Given the description of an element on the screen output the (x, y) to click on. 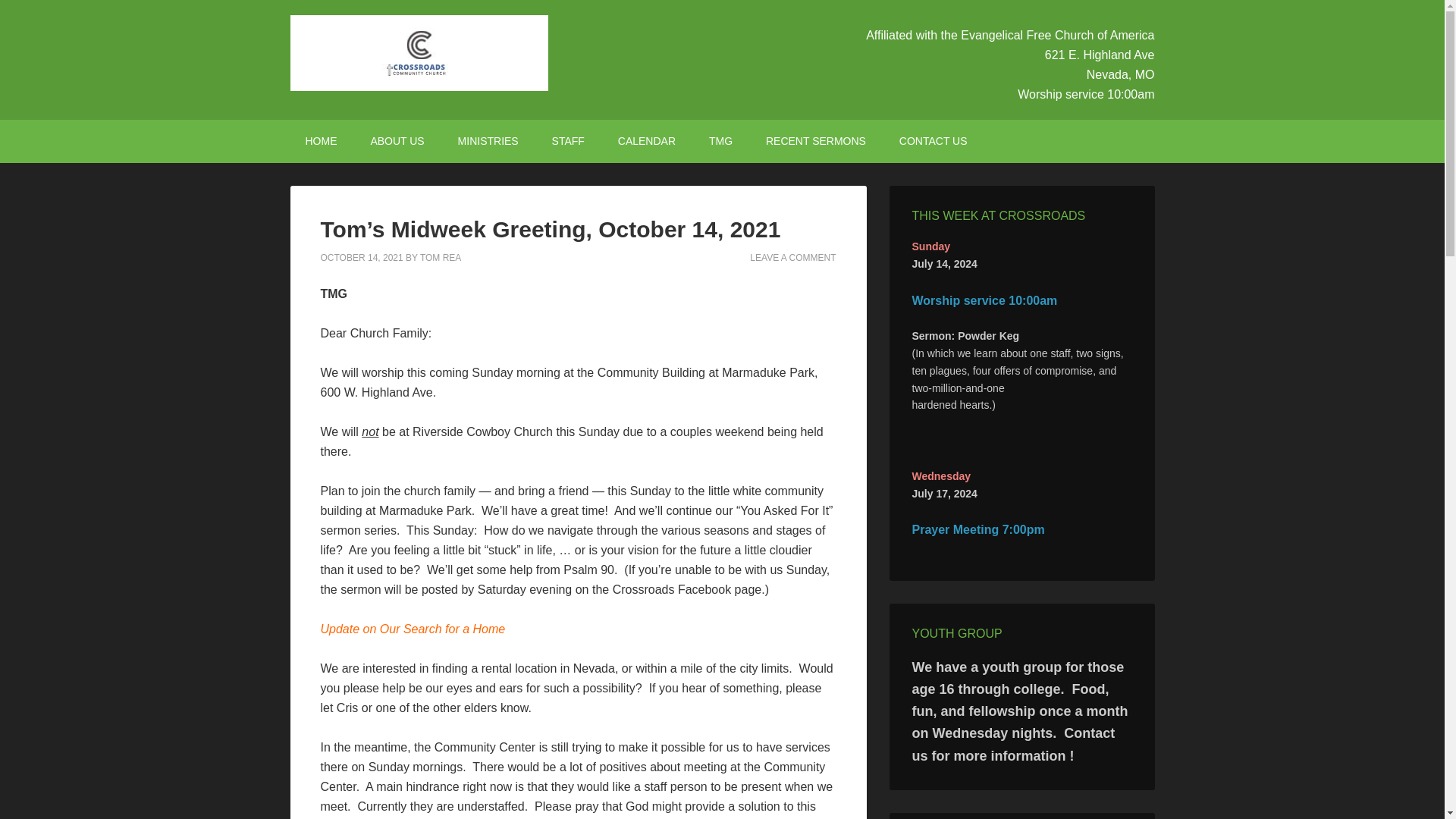
TOM REA (440, 257)
CROSSROADS CHURCH (418, 52)
CONTACT US (932, 140)
CALENDAR (646, 140)
LEAVE A COMMENT (792, 257)
ABOUT US (397, 140)
RECENT SERMONS (815, 140)
STAFF (568, 140)
HOME (320, 140)
MINISTRIES (488, 140)
TMG (721, 140)
